Given the description of an element on the screen output the (x, y) to click on. 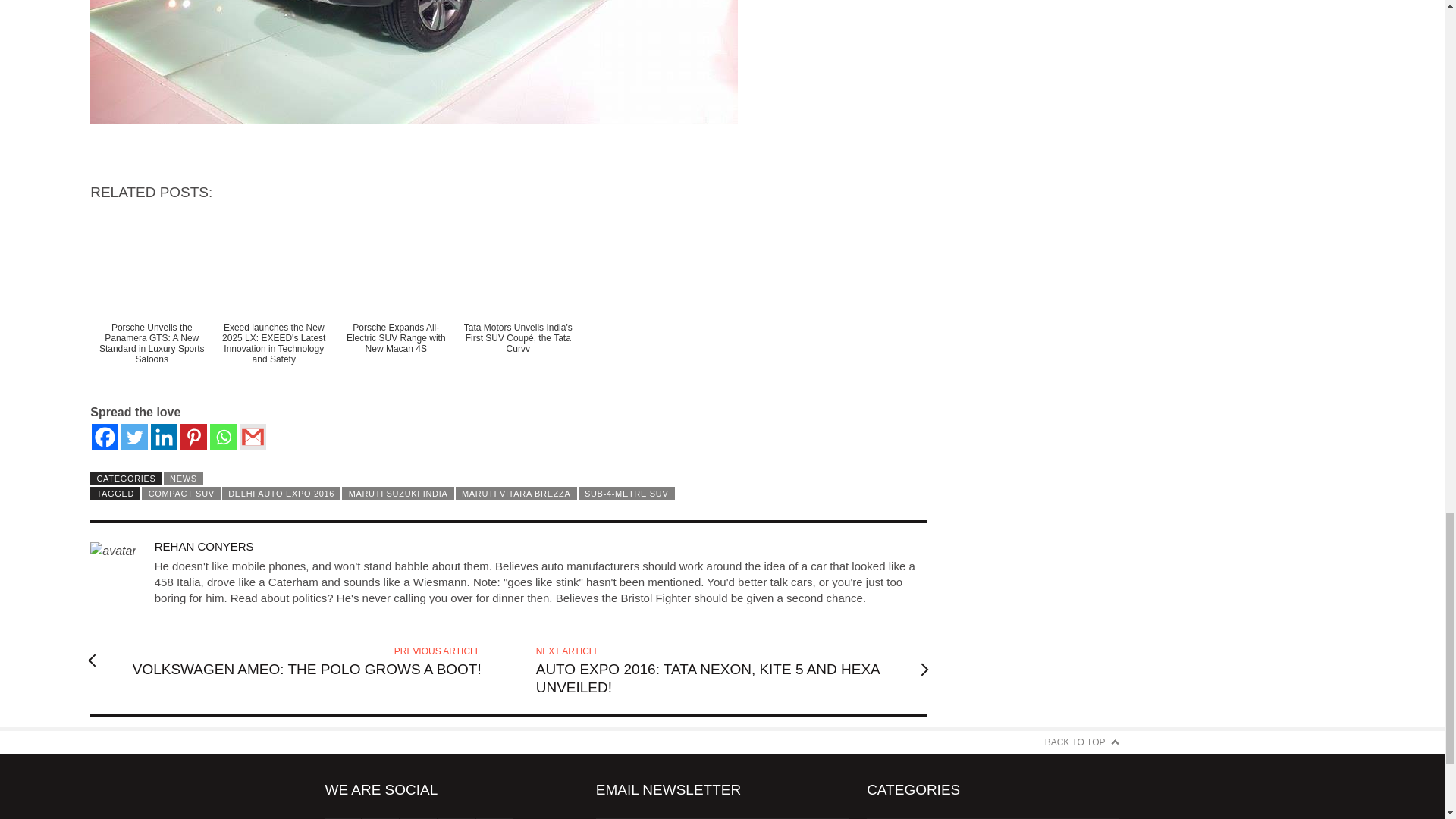
Facebook (104, 437)
Whatsapp (222, 437)
View all posts tagged Compact SUV (181, 493)
Pinterest (193, 437)
Linkedin (164, 437)
View all posts in News (183, 478)
Google Gmail (253, 437)
View all posts tagged Delhi Auto Expo 2016 (281, 493)
Twitter (134, 437)
View all posts tagged Maruti Suzuki India (397, 493)
